Given the description of an element on the screen output the (x, y) to click on. 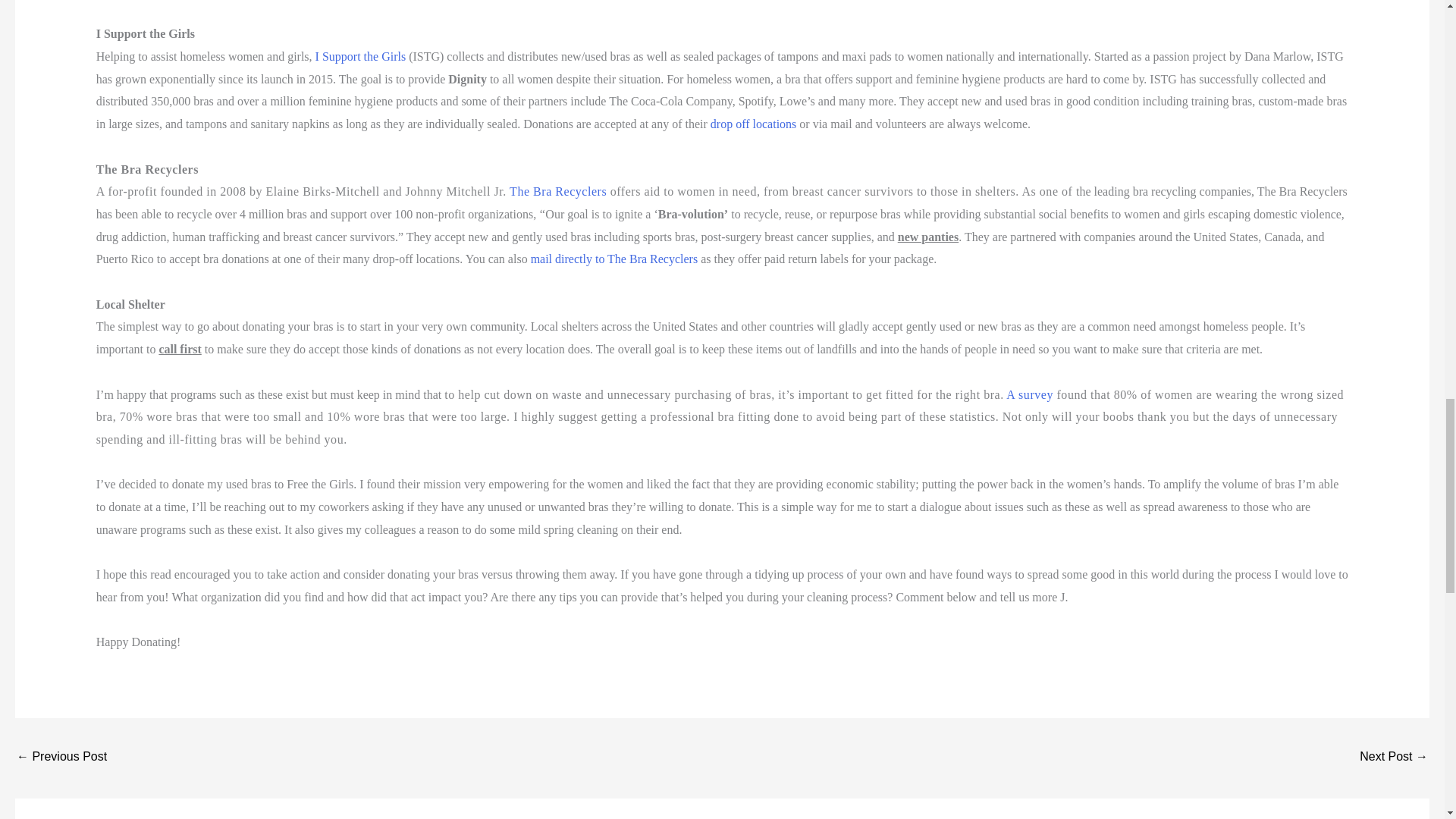
mail directly to The Bra Recyclers (614, 258)
The Bra Recyclers (558, 191)
In the Company of Women (61, 757)
drop off locations (754, 123)
I Support the Girls (362, 56)
A survey (1031, 394)
Reclaim a New Narrative (1393, 757)
